Given the description of an element on the screen output the (x, y) to click on. 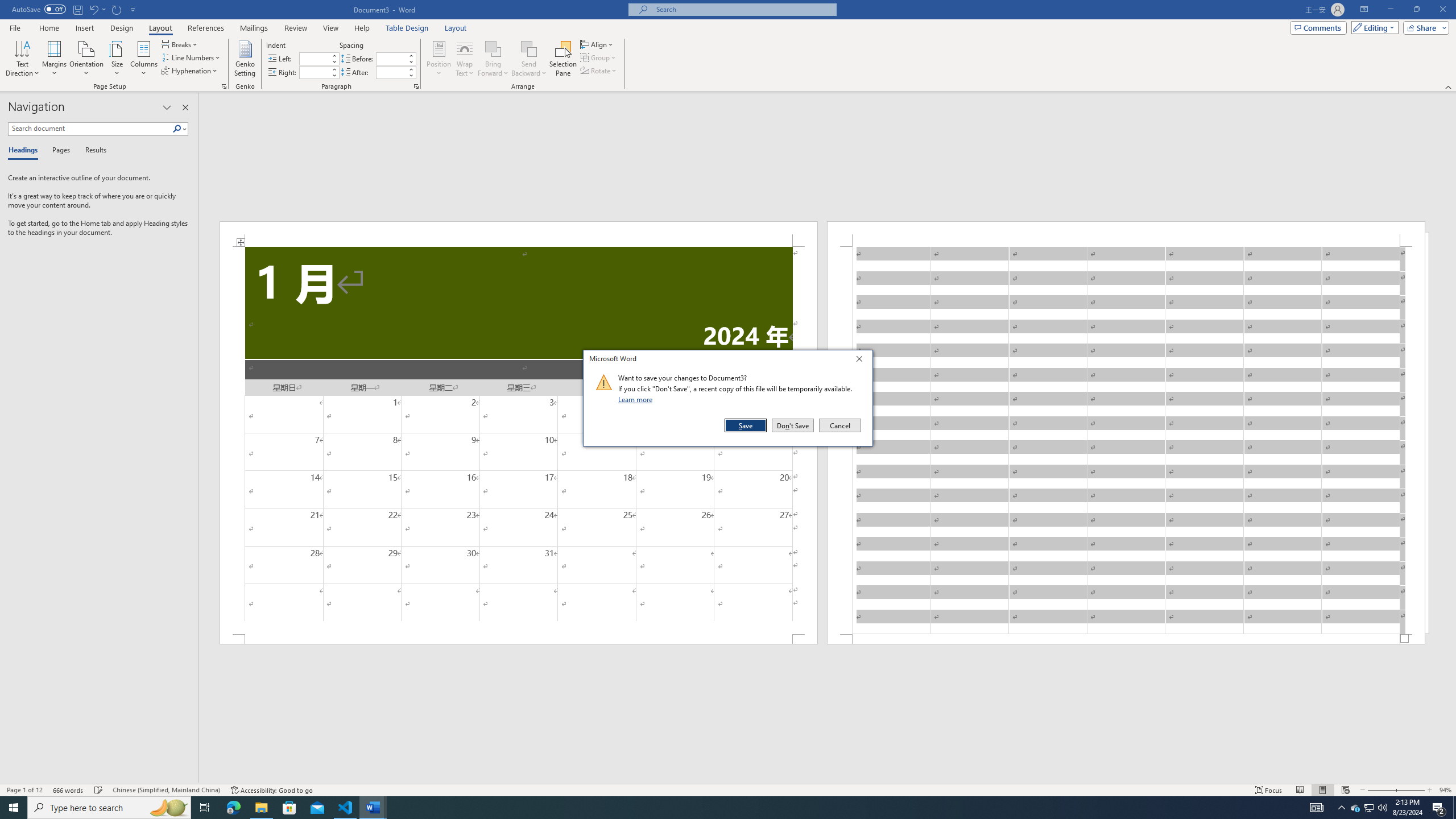
Microsoft Edge (233, 807)
Line Numbers (191, 56)
Orientation (86, 58)
Don't Save (792, 425)
Task View (204, 807)
